Given the description of an element on the screen output the (x, y) to click on. 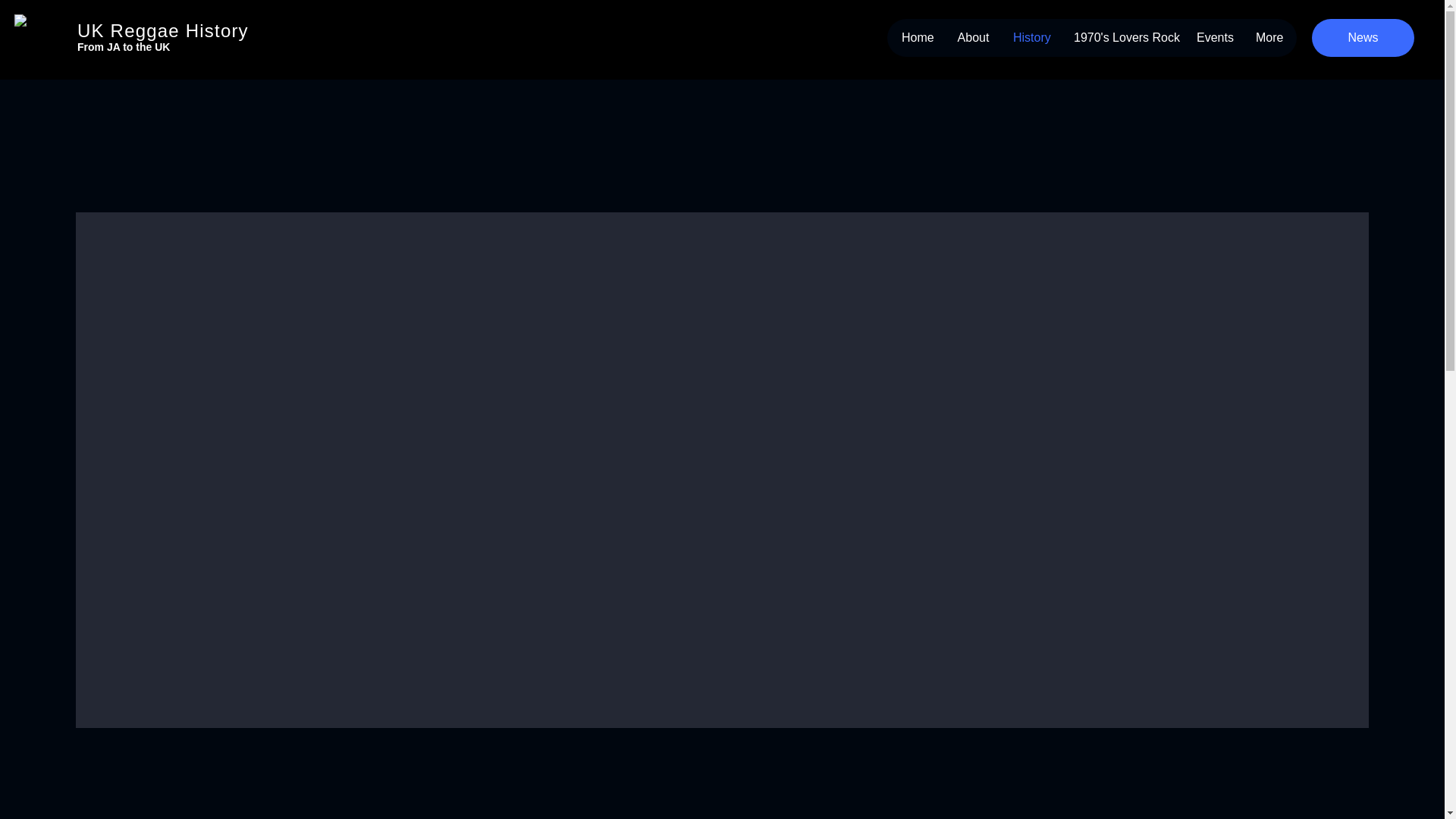
UK Reggae History (162, 30)
1970's Lovers Rock (1123, 37)
News (1362, 37)
Events (1214, 37)
Home (916, 37)
About (972, 37)
History (1031, 37)
